Given the description of an element on the screen output the (x, y) to click on. 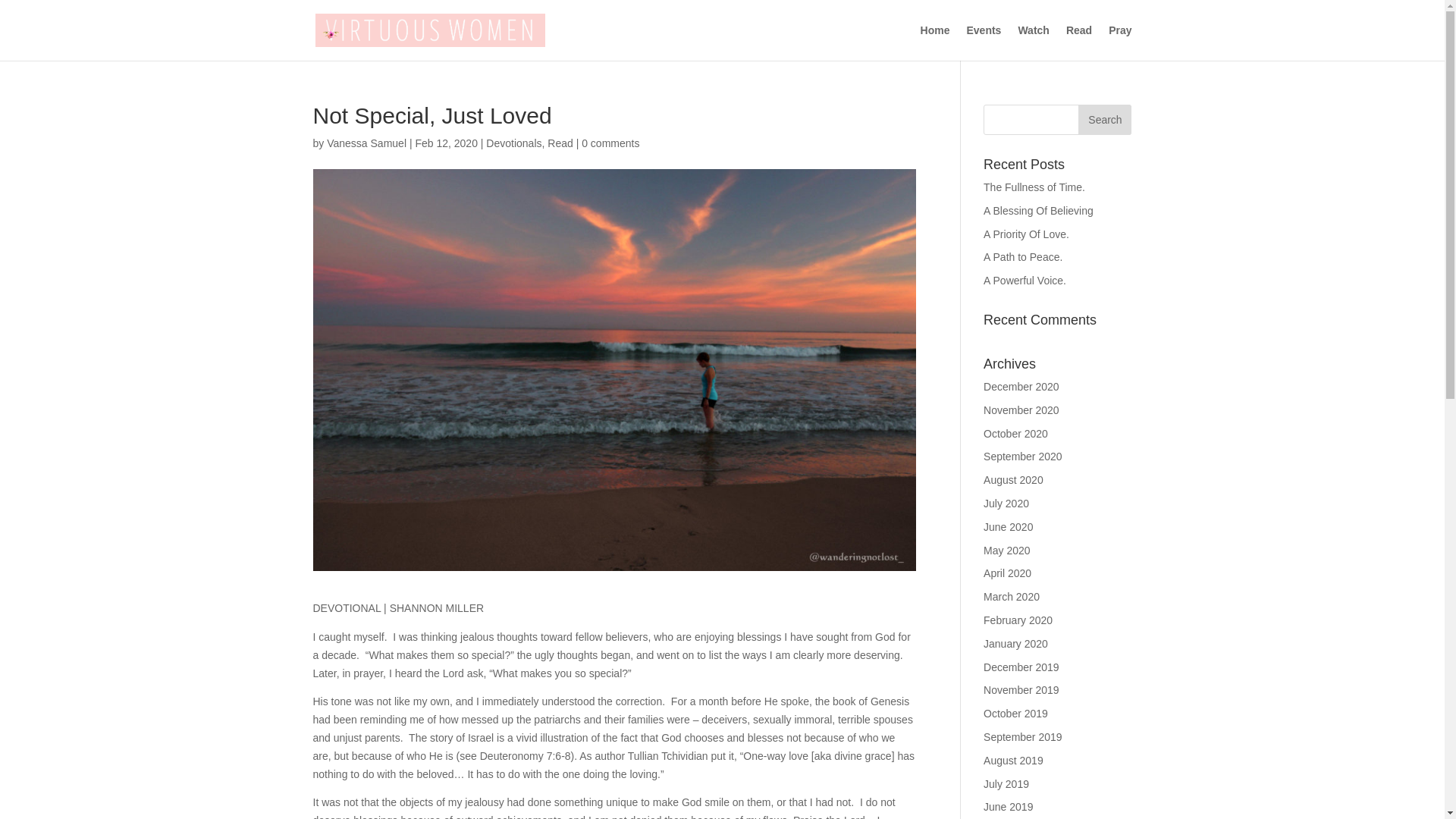
March 2020 (1011, 596)
Events (983, 42)
Posts by Vanessa Samuel (366, 143)
November 2020 (1021, 410)
A Blessing Of Believing (1038, 210)
July 2019 (1006, 784)
June 2019 (1008, 806)
December 2019 (1021, 666)
September 2019 (1023, 736)
December 2020 (1021, 386)
